Given the description of an element on the screen output the (x, y) to click on. 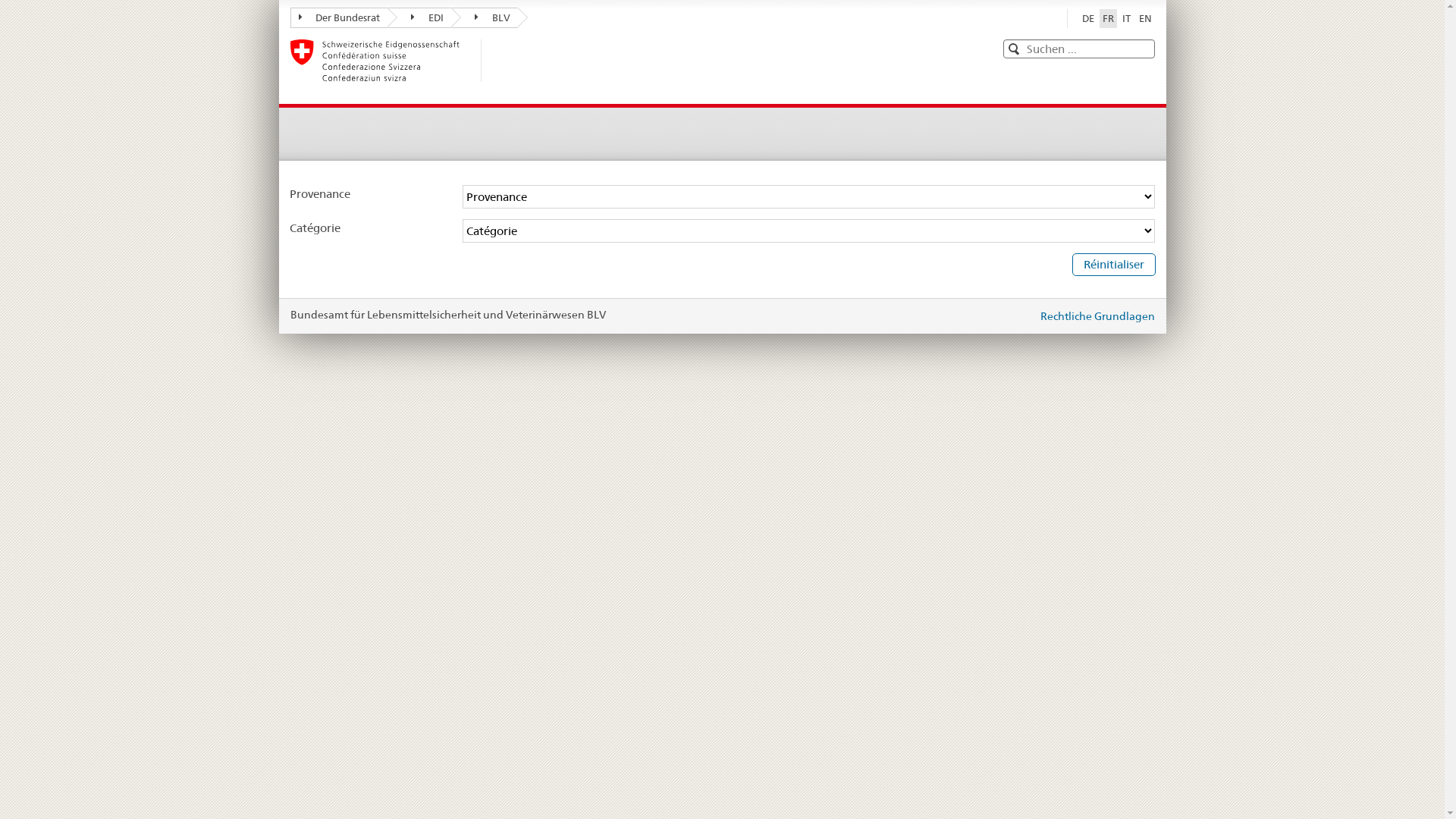
DE Element type: text (1087, 18)
Der Bundesrat Element type: text (338, 17)
EDI Element type: text (419, 17)
IT Element type: text (1126, 18)
Rechtliche Grundlagen Element type: text (1097, 316)
BLV Element type: text (484, 17)
FR Element type: text (1108, 18)
Suchen Element type: text (1012, 49)
Zur Startseite Element type: hover (385, 60)
EN Element type: text (1144, 18)
